Given the description of an element on the screen output the (x, y) to click on. 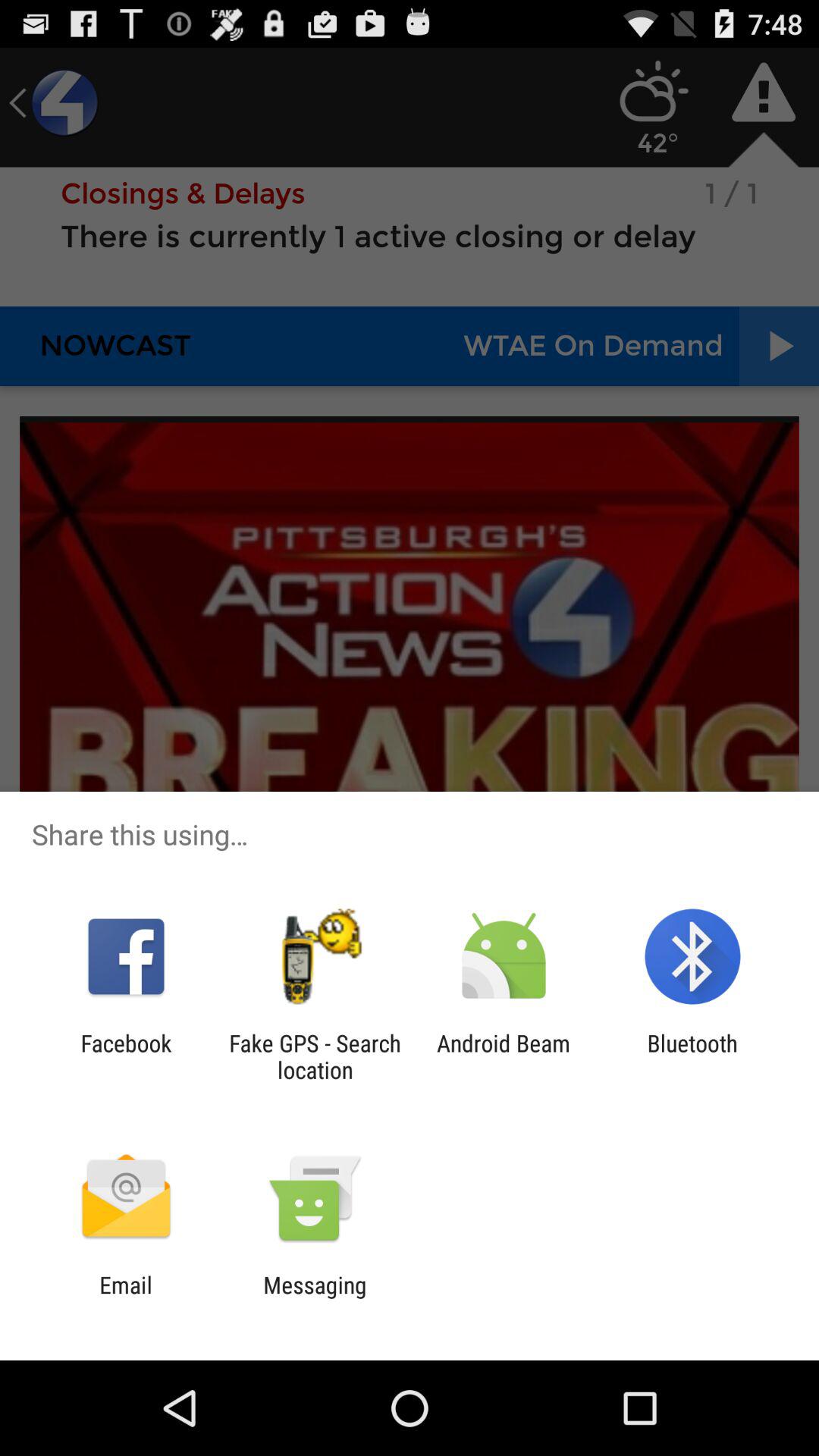
select android beam (503, 1056)
